Given the description of an element on the screen output the (x, y) to click on. 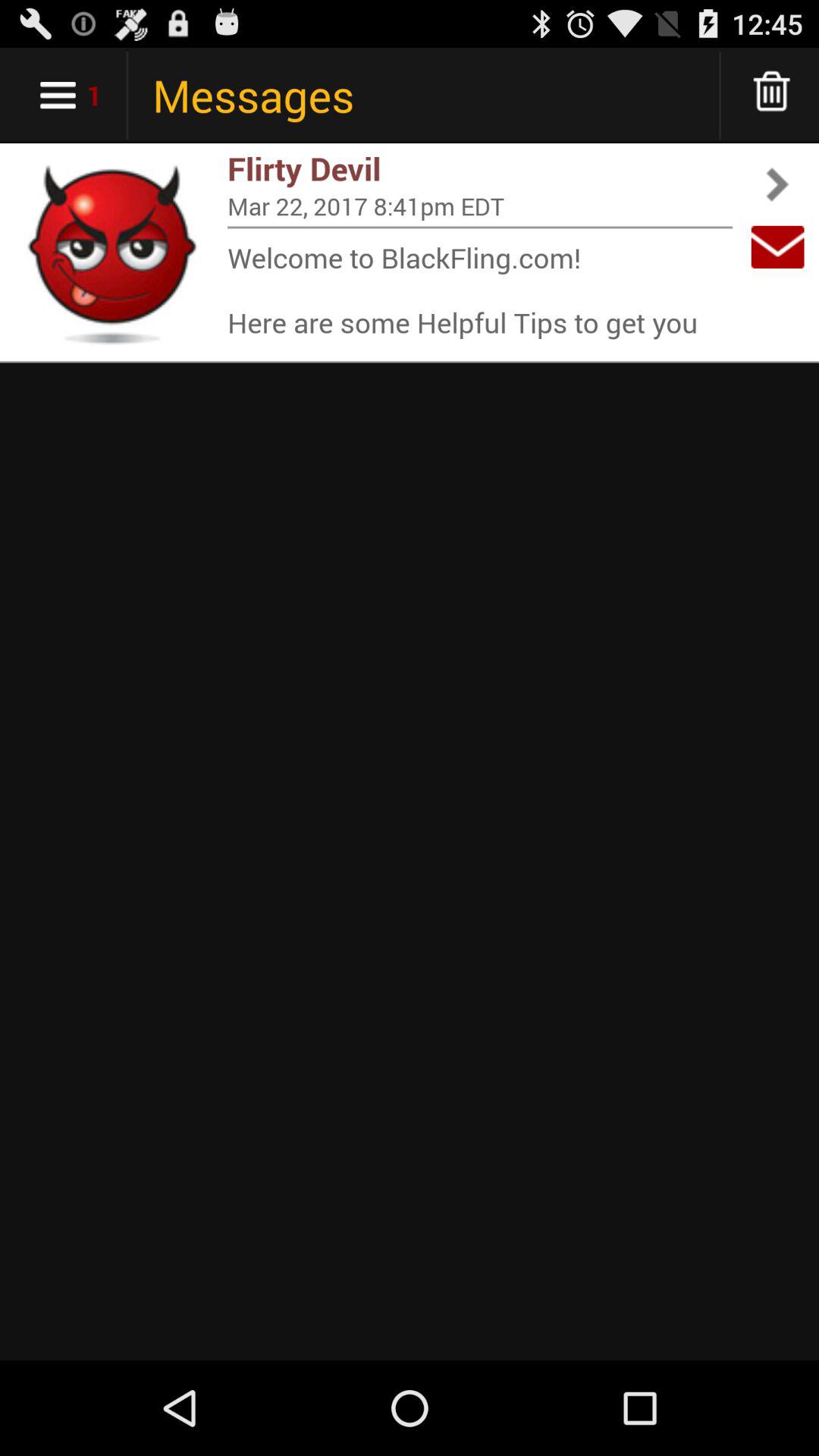
launch the app below flirty devil item (479, 205)
